Given the description of an element on the screen output the (x, y) to click on. 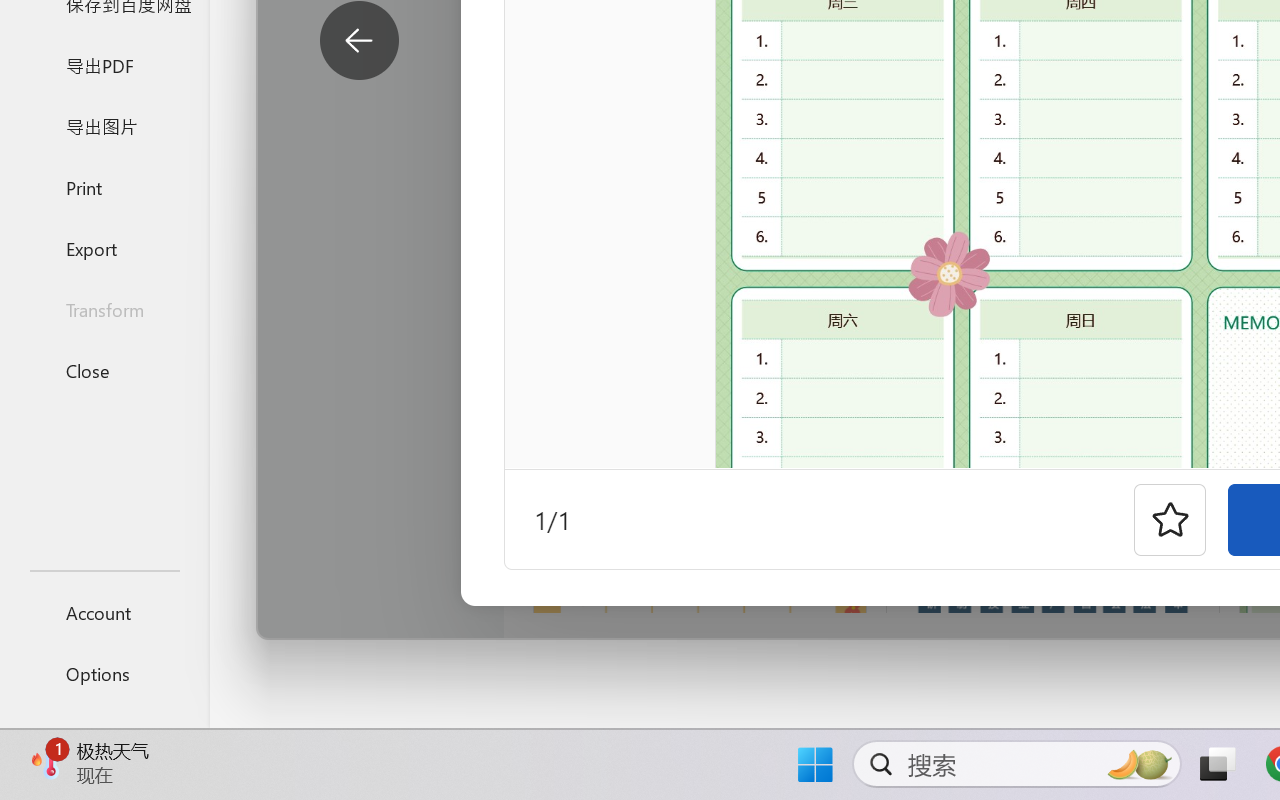
Print (104, 186)
Options (104, 673)
Transform (104, 309)
Export (104, 248)
Account (104, 612)
